Given the description of an element on the screen output the (x, y) to click on. 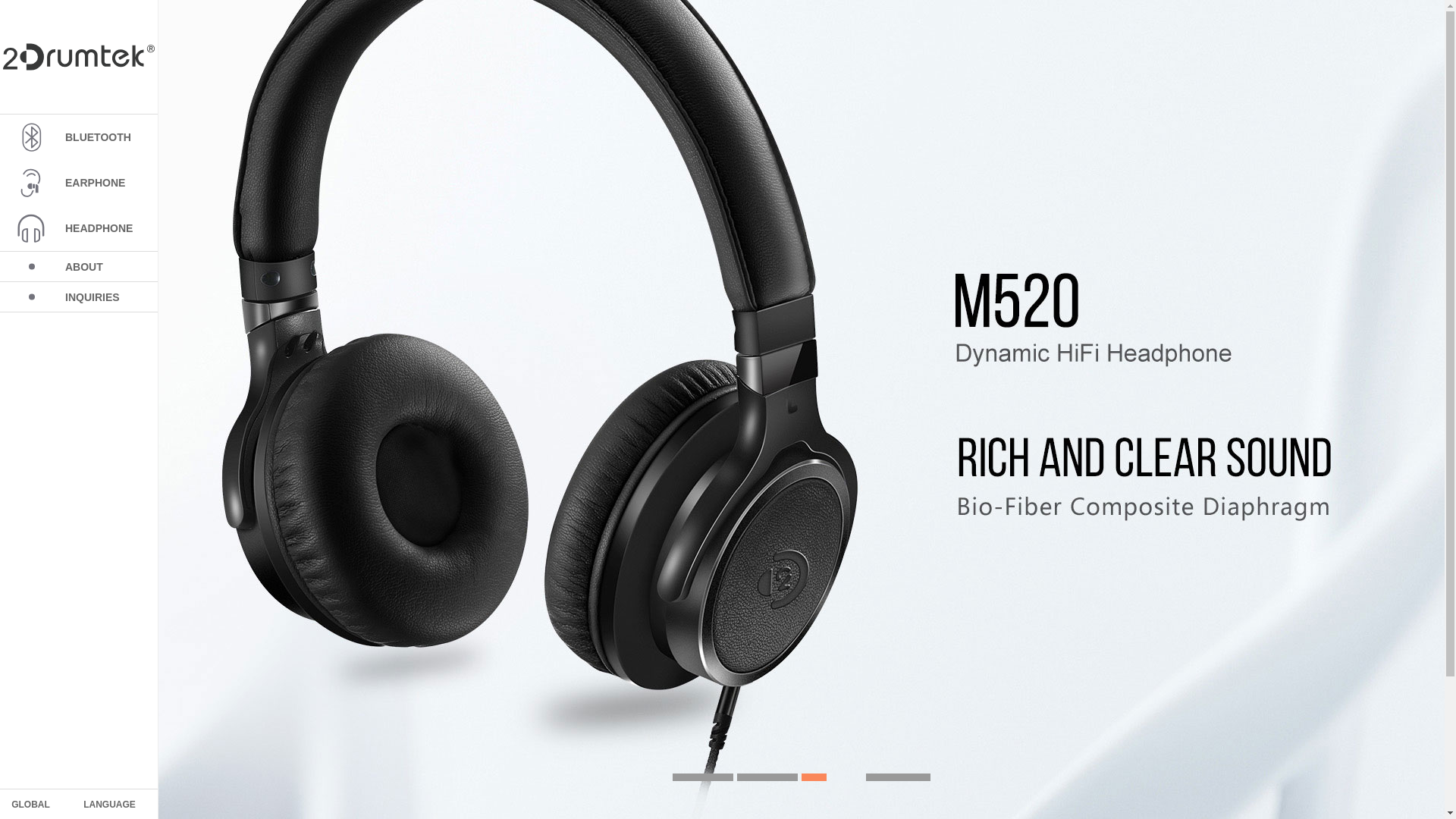
BLUETOOTH
EARPHONE
HEADPHONE Element type: text (78, 182)
BLUETOOTH Element type: text (78, 137)
EARPHONE Element type: text (78, 182)
HEADPHONE Element type: text (78, 228)
ABOUT Element type: text (78, 266)
ABOUT
INQUIRIES Element type: text (78, 281)
INQUIRIES Element type: text (78, 297)
